Given the description of an element on the screen output the (x, y) to click on. 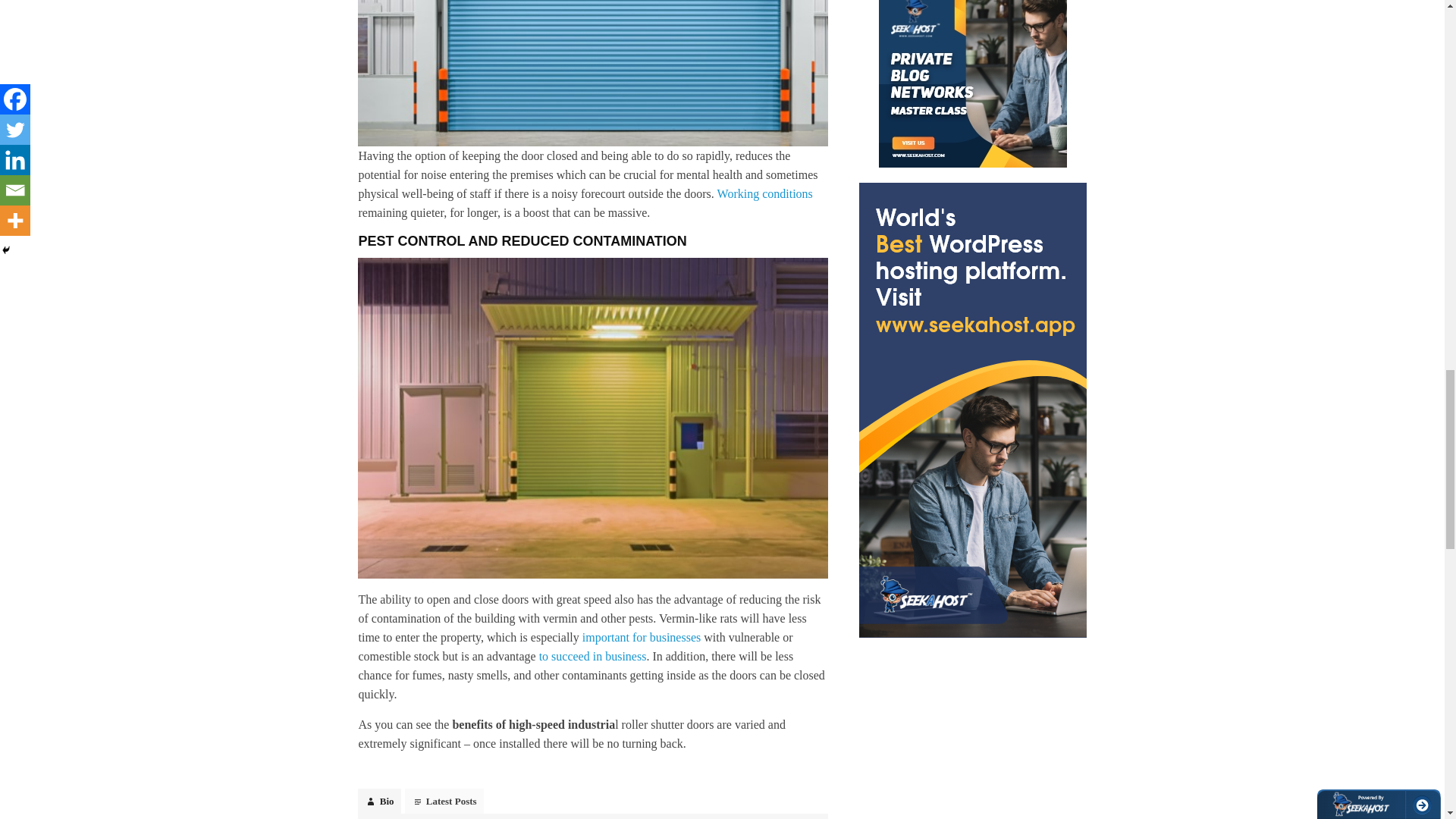
to succeed in business (592, 656)
important for businesses (641, 636)
Working conditions (764, 193)
Bio (379, 801)
Latest Posts (443, 801)
